Given the description of an element on the screen output the (x, y) to click on. 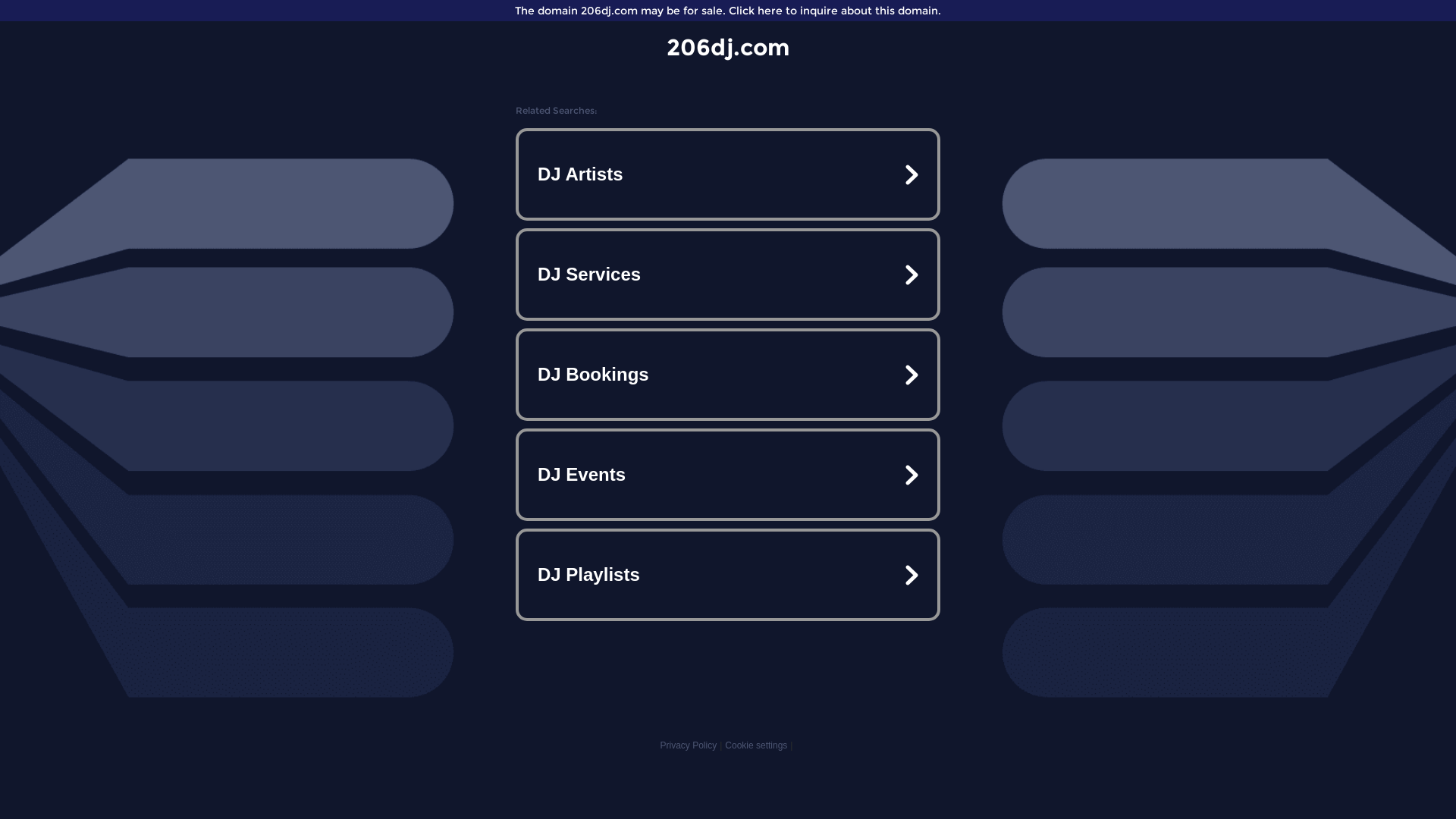
DJ Artists Element type: text (727, 174)
Cookie settings Element type: text (755, 745)
DJ Playlists Element type: text (727, 574)
Privacy Policy Element type: text (687, 745)
DJ Services Element type: text (727, 274)
DJ Bookings Element type: text (727, 374)
206dj.com Element type: text (727, 47)
DJ Events Element type: text (727, 474)
